Given the description of an element on the screen output the (x, y) to click on. 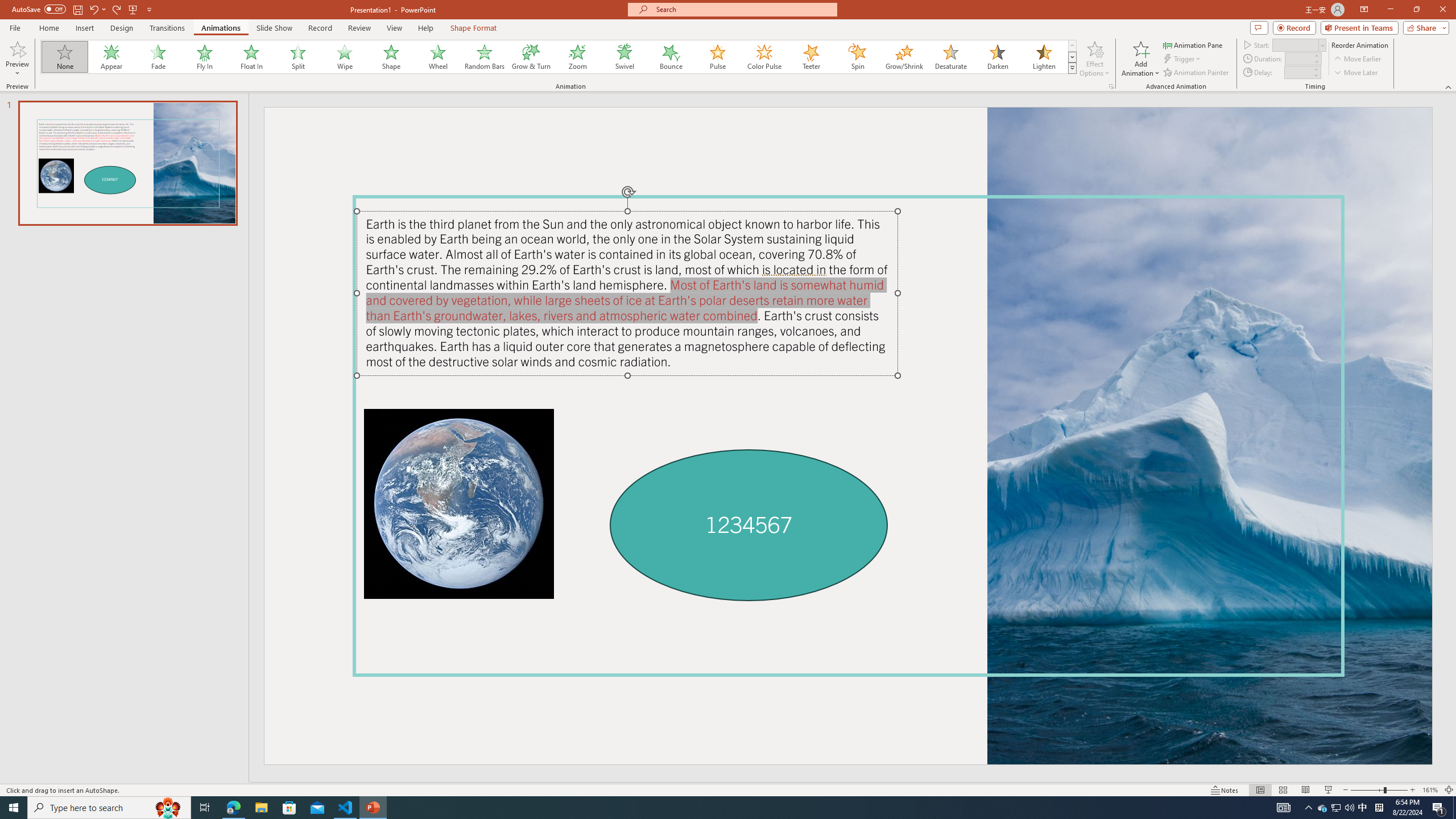
Shape (391, 56)
Less (1315, 75)
Shape Format (473, 28)
Animation Delay (1297, 72)
Zoom to Fit  (1449, 790)
Wheel (437, 56)
Split (298, 56)
AutomationID: AnimationGallery (558, 56)
Darken (997, 56)
Fade (158, 56)
Color Pulse (764, 56)
